Given the description of an element on the screen output the (x, y) to click on. 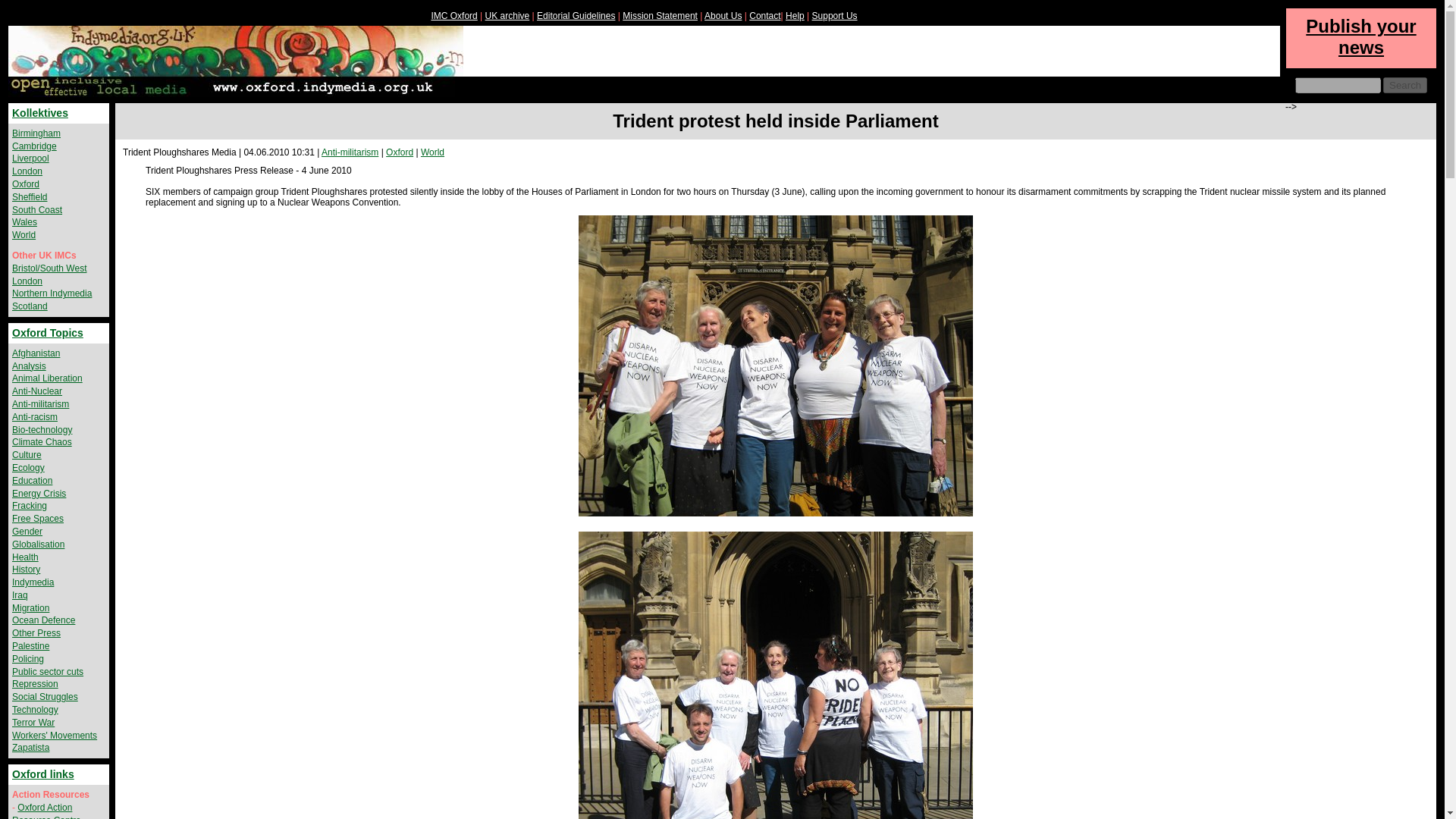
UK archive (506, 15)
Northern Indymedia (51, 293)
World (432, 152)
About Us (722, 15)
London (26, 281)
Oxford (399, 152)
London (26, 171)
Indymedia news from London. (26, 171)
Liverpool (30, 158)
Global news. (432, 152)
Mission Statement (660, 15)
Birmingham (36, 132)
Support Us (834, 15)
Indymedia news from and relating to Wales. (24, 222)
